Given the description of an element on the screen output the (x, y) to click on. 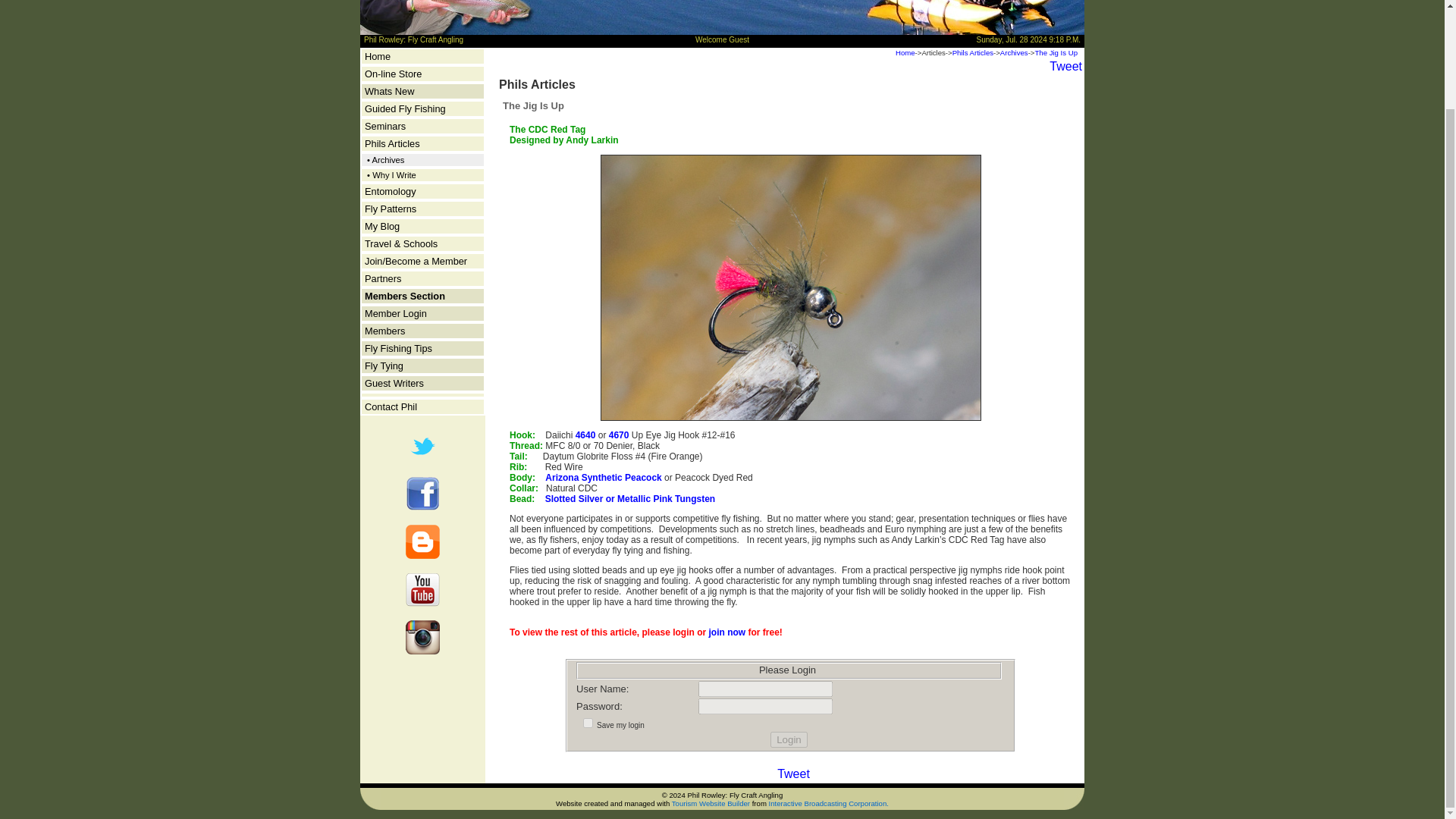
Home (377, 56)
Archives (1013, 52)
Interactive Broadcasting Corporation. (828, 802)
Fly Tying (384, 365)
Partners (383, 278)
Tweet (793, 773)
join now (727, 632)
Seminars (385, 125)
Entomology (390, 191)
Fly Fishing Tips (398, 348)
Members (384, 330)
4670 (619, 434)
Fly Patterns (390, 208)
Phils Articles (392, 143)
Phils Articles (972, 52)
